Given the description of an element on the screen output the (x, y) to click on. 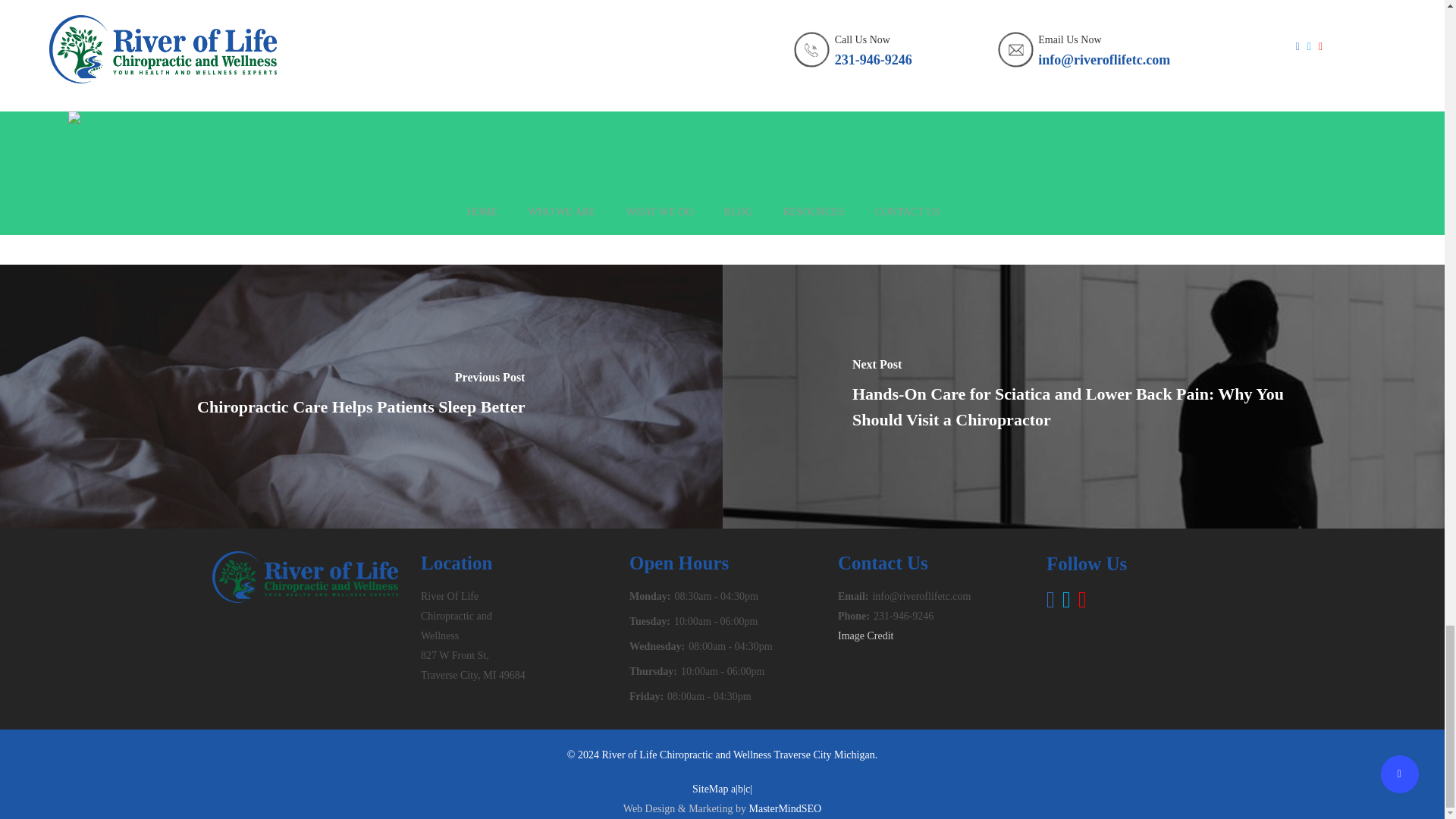
b (740, 788)
a (732, 788)
riveroflifetc (471, 156)
c (747, 788)
Image Credit (865, 635)
YouTube Channel (501, 30)
MasterMindSEO (785, 808)
